Given the description of an element on the screen output the (x, y) to click on. 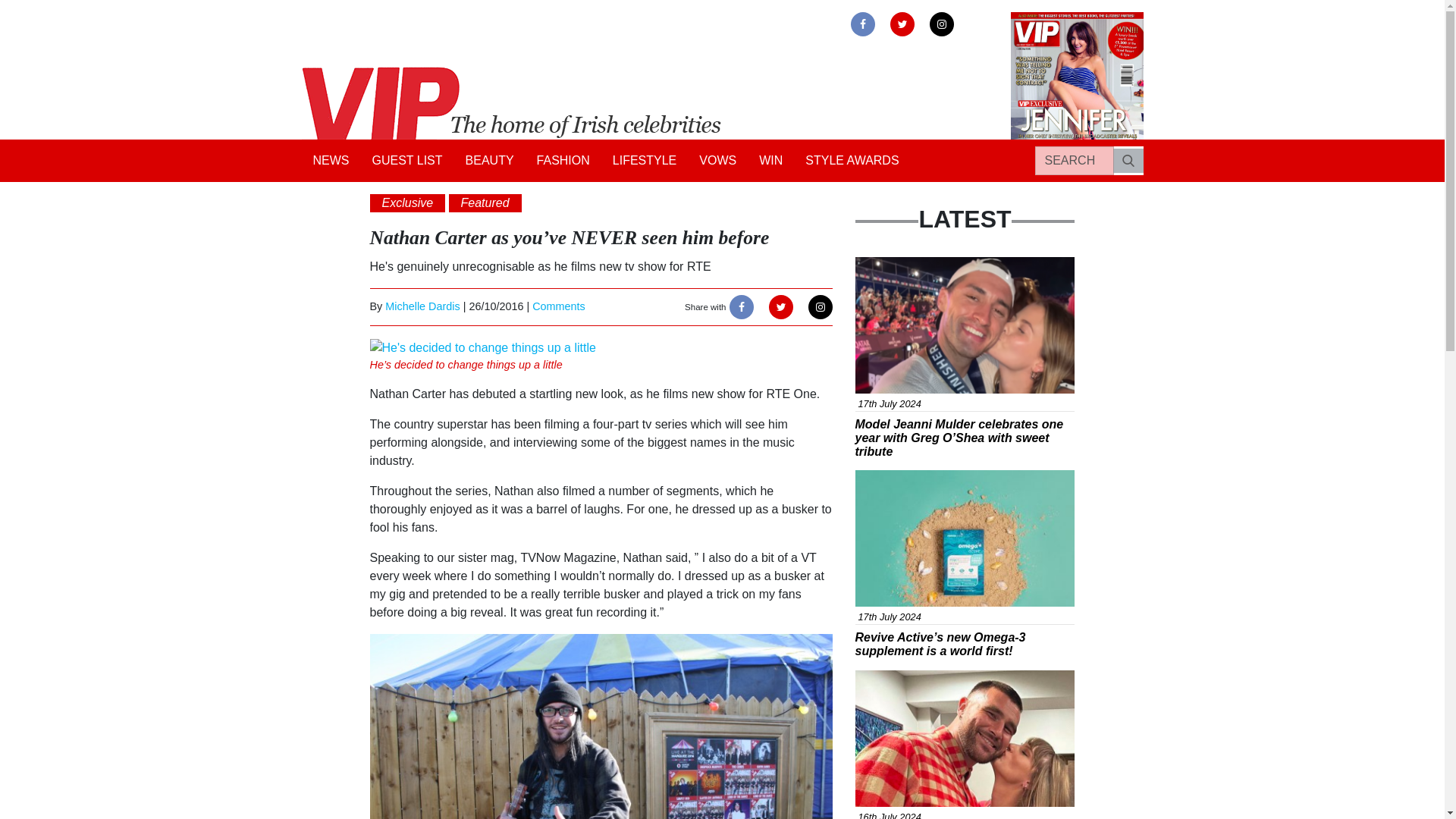
BEAUTY (489, 160)
Comments (558, 306)
STYLE AWARDS (851, 160)
Exclusive (407, 203)
LIFESTYLE (644, 160)
VOWS (717, 160)
News (881, 678)
GUEST LIST (407, 160)
WIN (770, 160)
Michelle Dardis (422, 306)
Featured (484, 203)
News (881, 265)
Advertisement (903, 478)
FASHION (563, 160)
NEWS (331, 160)
